Given the description of an element on the screen output the (x, y) to click on. 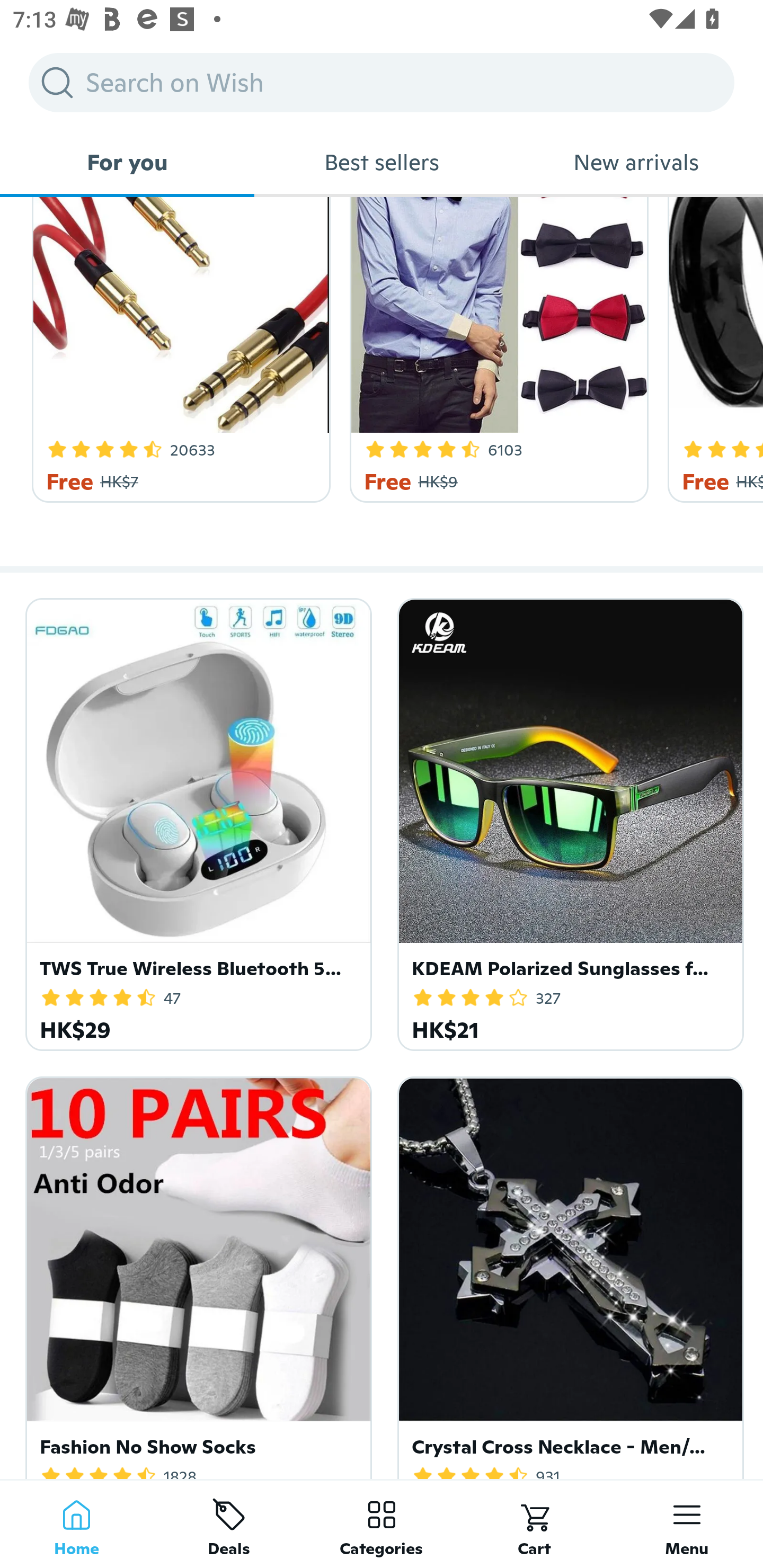
Search on Wish (381, 82)
For you (127, 161)
Best sellers (381, 161)
New arrivals (635, 161)
4.3 Star Rating 20633 Free HK$7 (177, 350)
4.4 Star Rating 6103 Free HK$9 (495, 350)
Fashion No Show Socks 4.3 Star Rating 1828 (195, 1273)
Home (76, 1523)
Deals (228, 1523)
Categories (381, 1523)
Cart (533, 1523)
Menu (686, 1523)
